Given the description of an element on the screen output the (x, y) to click on. 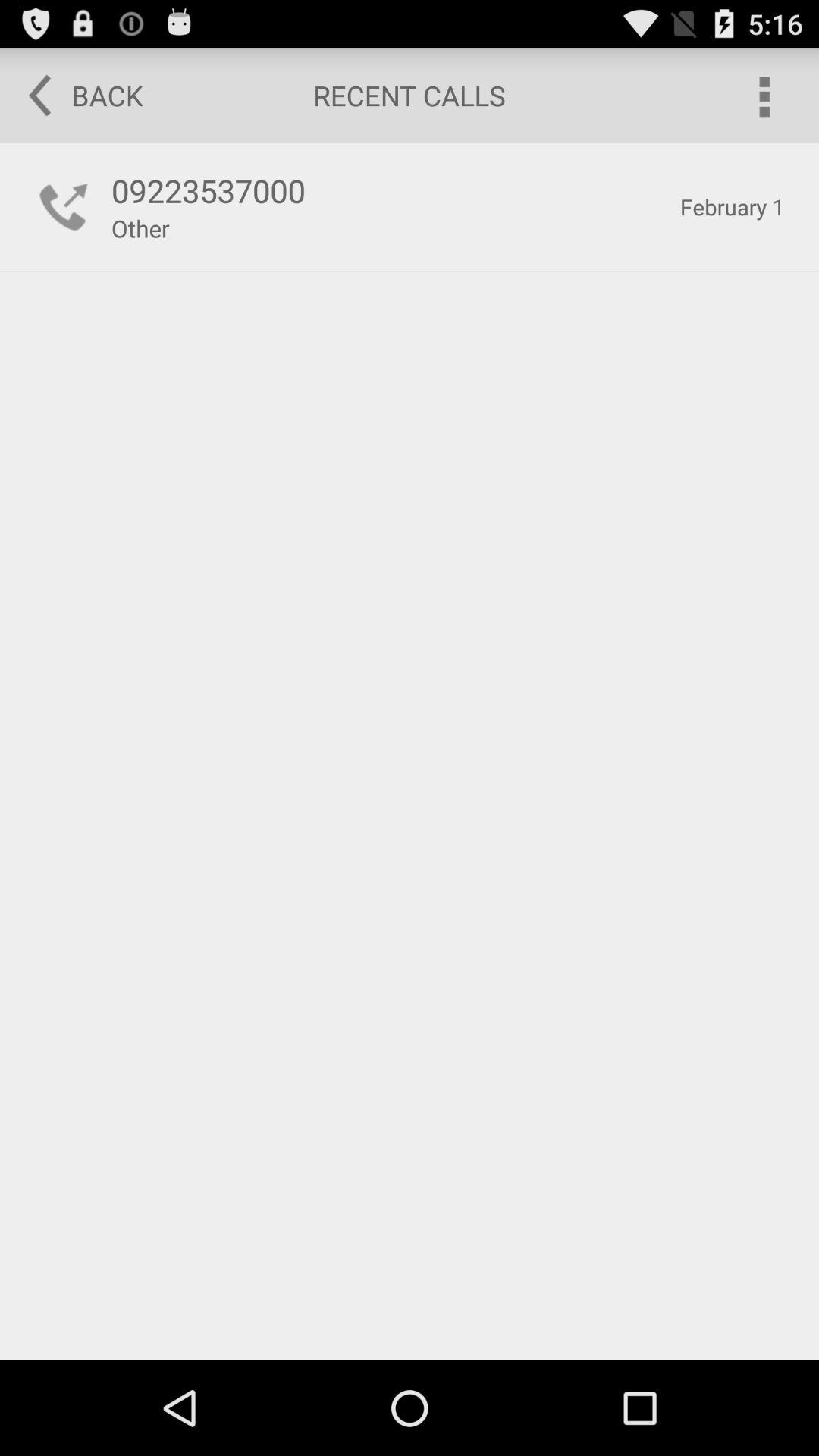
choose icon above the february 1 app (763, 95)
